Given the description of an element on the screen output the (x, y) to click on. 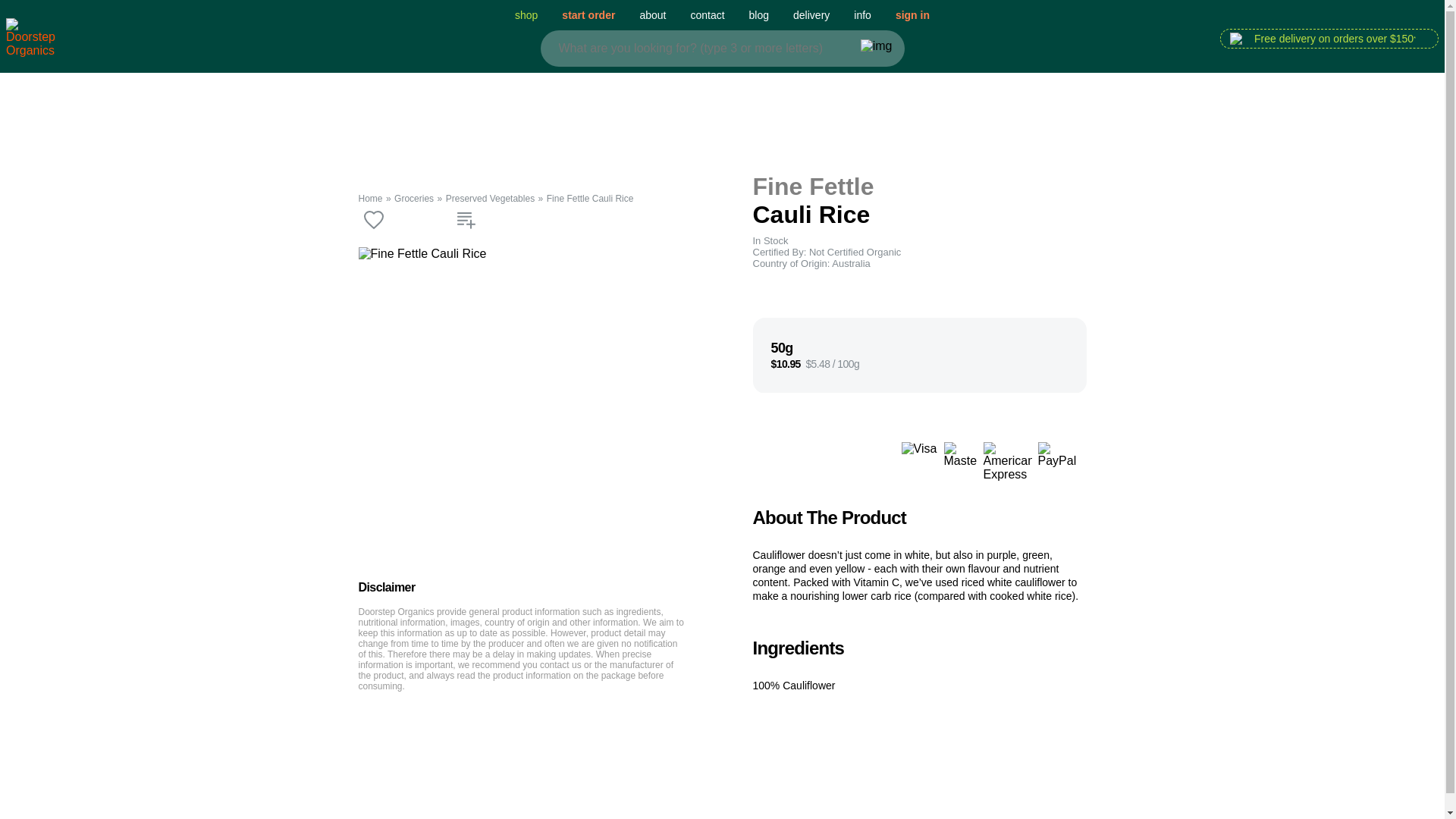
Visa (919, 461)
PayPal (1061, 461)
American Express (1006, 461)
